Given the description of an element on the screen output the (x, y) to click on. 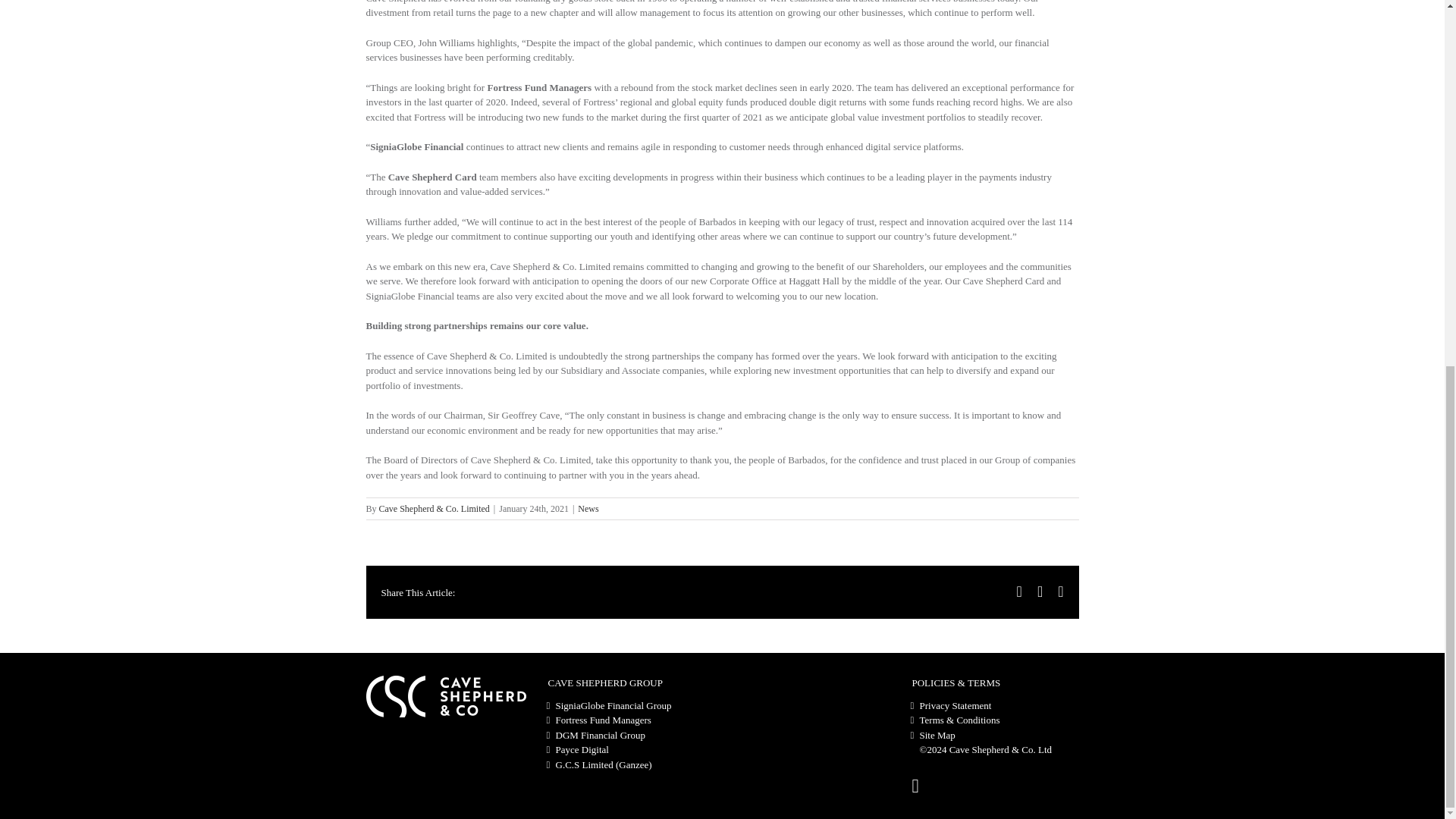
Fortress Fund Managers (634, 720)
Facebook (1019, 590)
Privacy Statement (998, 705)
News (588, 508)
Twitter (1039, 590)
LinkedIn (1060, 590)
DGM Financial Group (634, 735)
Payce Digital (634, 749)
SigniaGlobe Financial Group (634, 705)
